Given the description of an element on the screen output the (x, y) to click on. 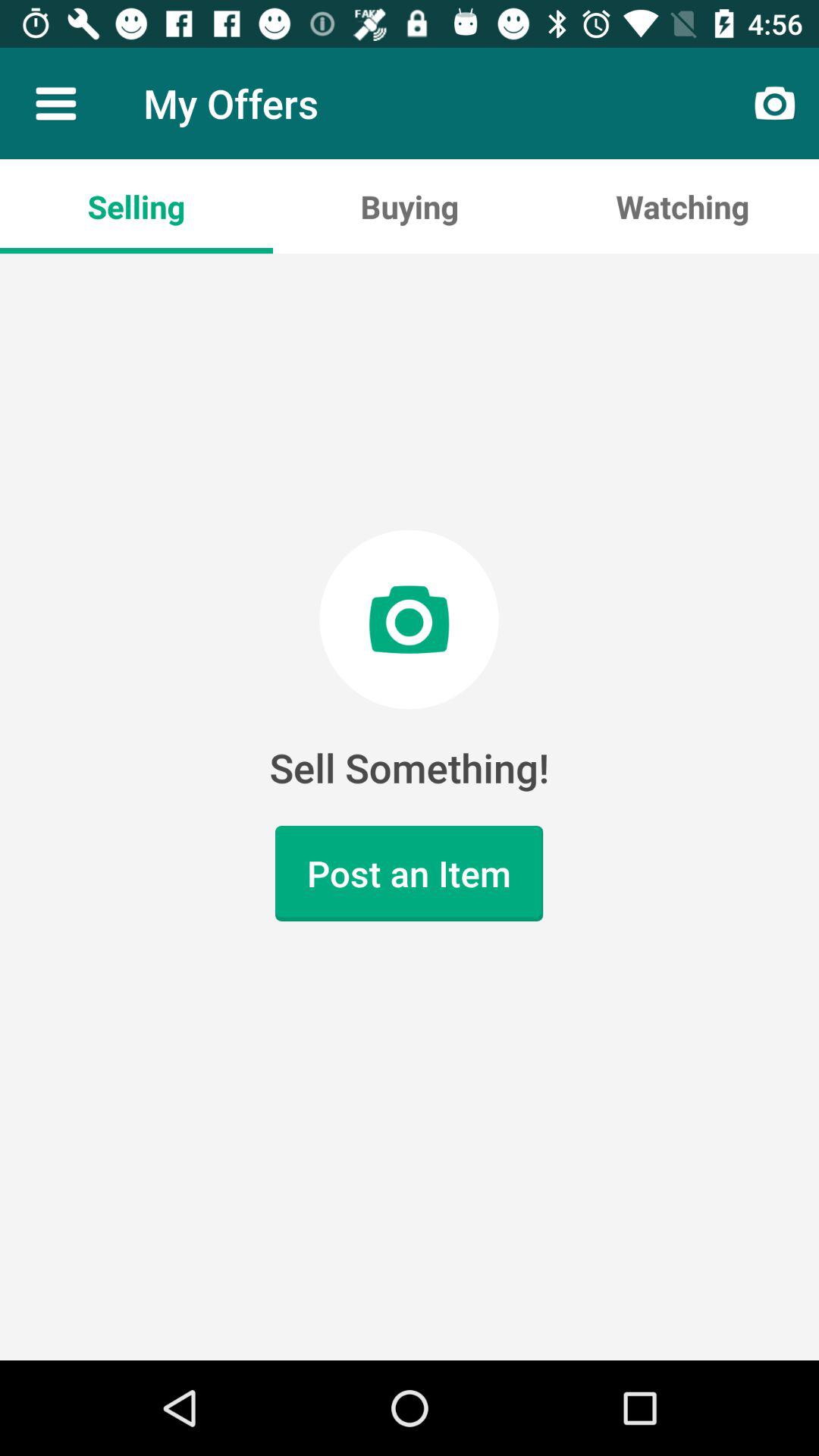
turn off the item next to selling app (409, 206)
